Given the description of an element on the screen output the (x, y) to click on. 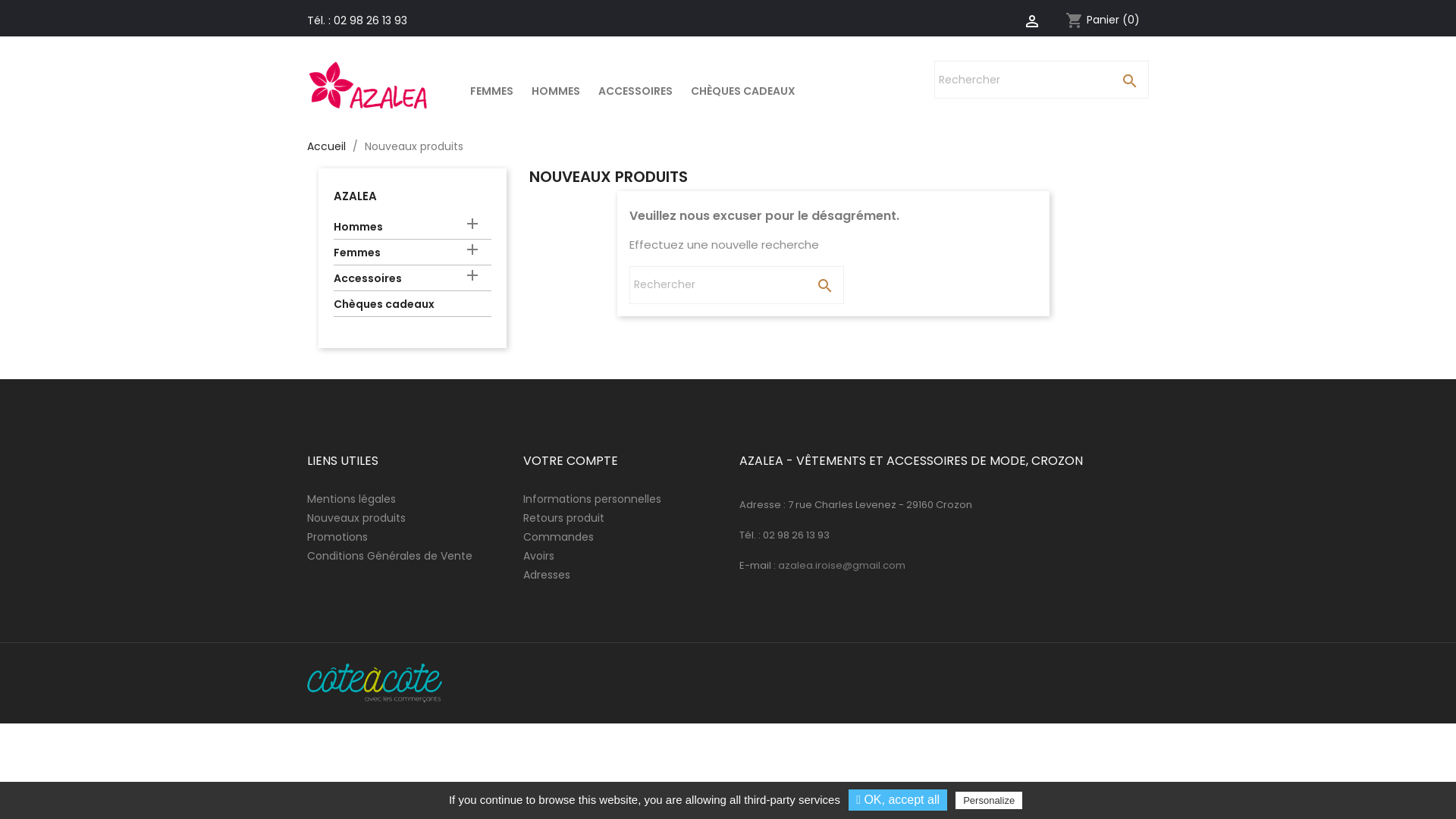
Commandes Element type: text (558, 536)
azalea.iroise@gmail.com Element type: text (841, 565)
ACCESSOIRES Element type: text (635, 92)
Avoirs Element type: text (538, 555)
Nouveaux produits Element type: text (356, 517)
FEMMES Element type: text (491, 92)
Personalize Element type: text (988, 800)
Accessoires Element type: text (412, 280)
Adresses Element type: text (546, 574)
Femmes Element type: text (412, 254)
Promotions Element type: text (337, 536)
VOTRE COMPTE Element type: text (570, 460)
Hommes Element type: text (412, 228)
Retours produit Element type: text (563, 517)
HOMMES Element type: text (555, 92)
Accueil Element type: text (326, 145)
Informations personnelles Element type: text (592, 498)
AZALEA Element type: text (354, 195)
